Given the description of an element on the screen output the (x, y) to click on. 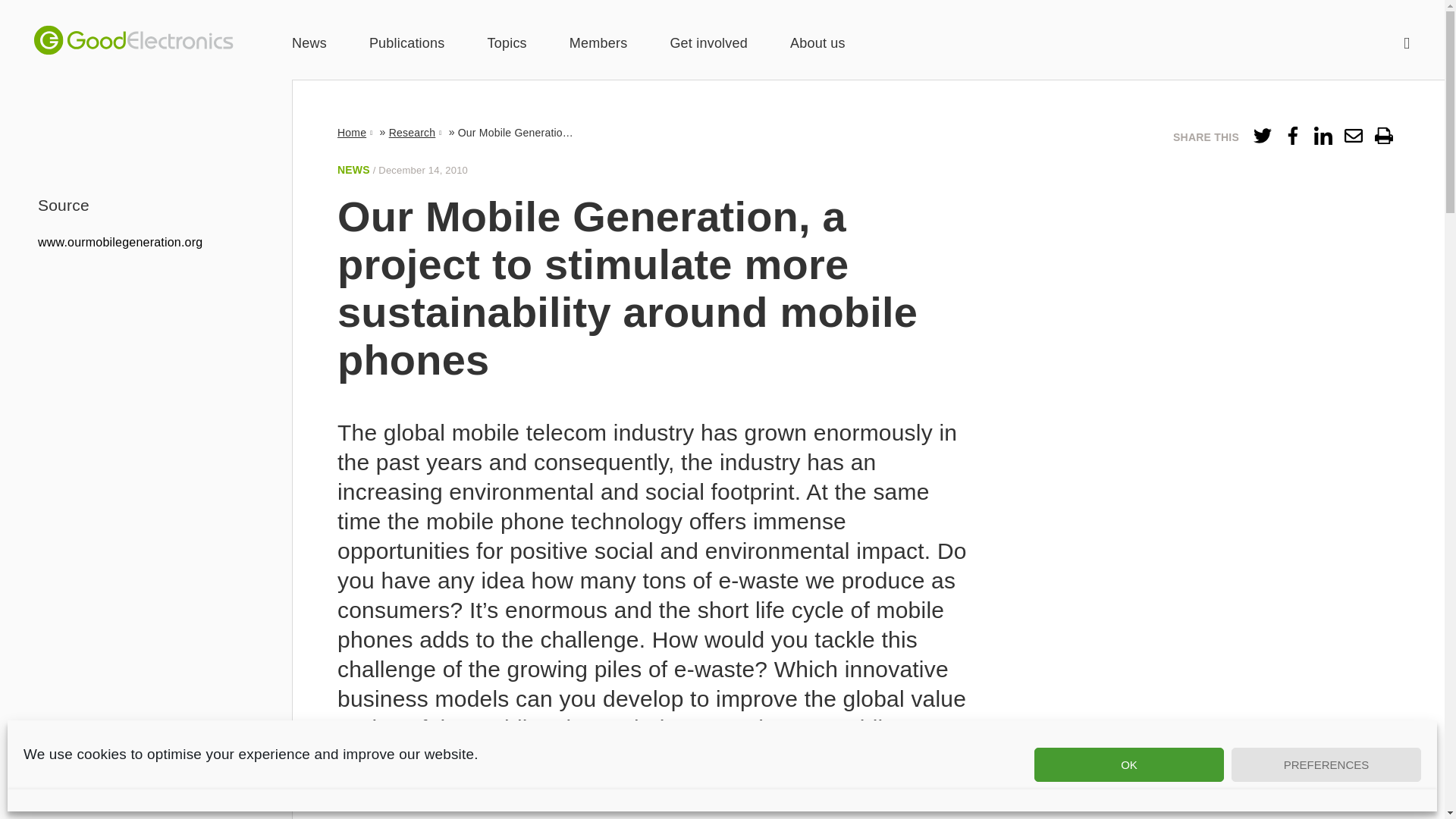
print Created with Sketch. (1383, 135)
Publications (407, 43)
www.ourmobilegeneration.org (119, 241)
linkedin Created with Sketch. (1323, 135)
facebook Created with Sketch. (1292, 135)
Topics (507, 43)
Members (598, 43)
twitter Created with Sketch. (1262, 139)
ZOEK (1406, 42)
facebook Created with Sketch. (1292, 139)
GoodElectronics (132, 40)
twitter Created with Sketch. (1262, 135)
PREFERENCES (1326, 764)
email Created with Sketch. (1352, 135)
About us (817, 43)
